Given the description of an element on the screen output the (x, y) to click on. 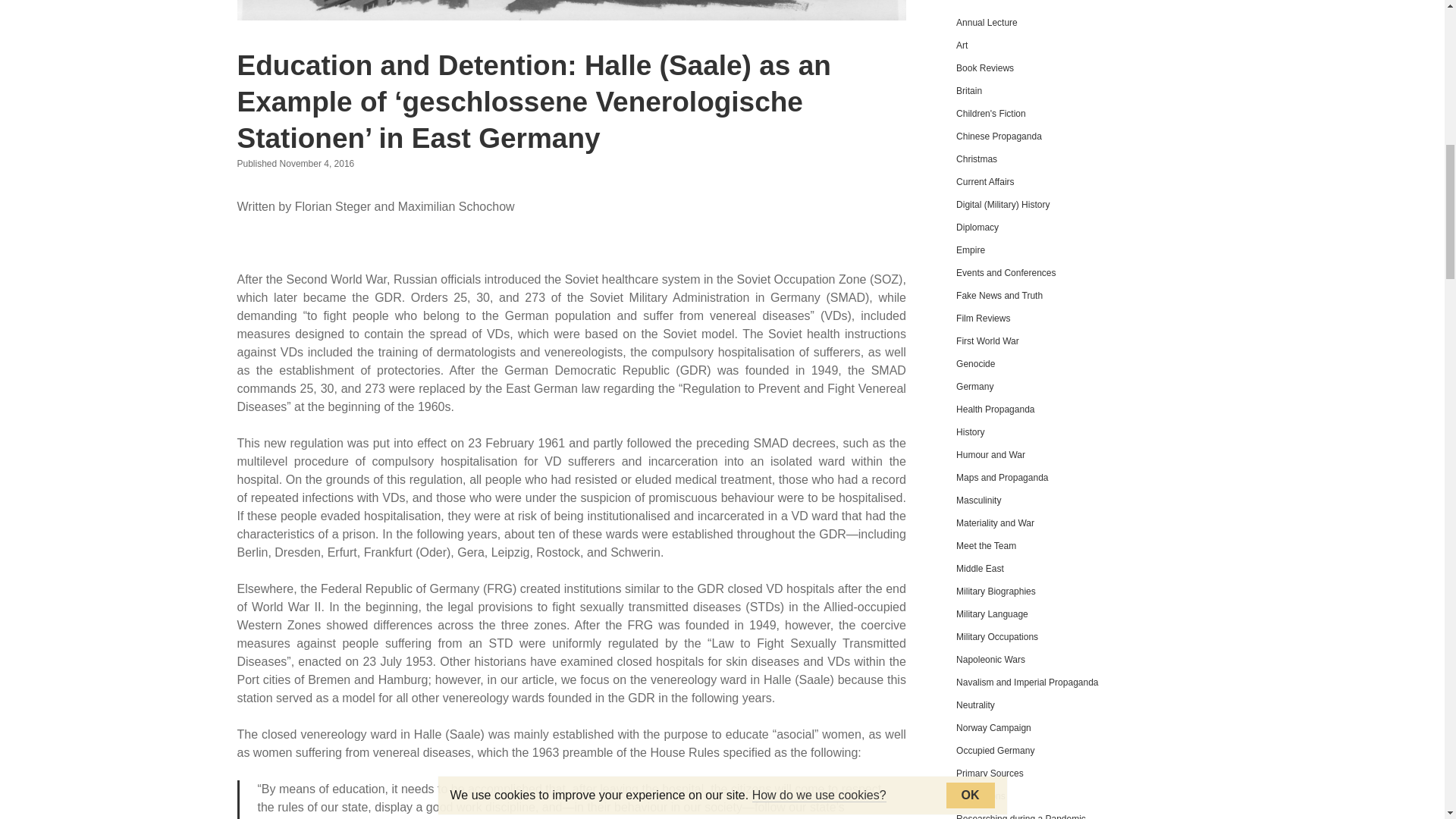
Art (962, 45)
Britain (968, 90)
Annual Lecture (986, 22)
Current Affairs (984, 181)
Children's Fiction (991, 113)
Book Reviews (984, 68)
Christmas (976, 158)
Chinese Propaganda (999, 136)
